Given the description of an element on the screen output the (x, y) to click on. 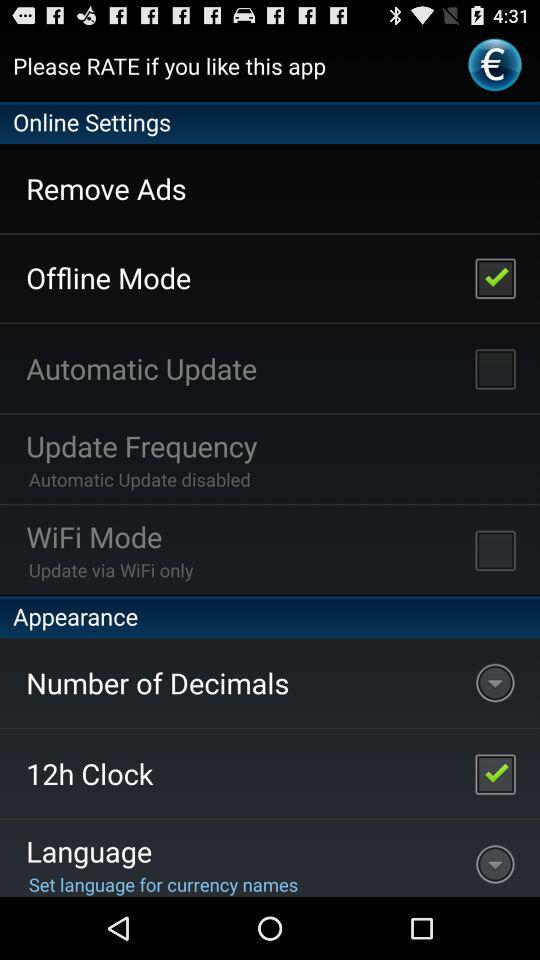
select the item next to number of decimals item (495, 773)
